Given the description of an element on the screen output the (x, y) to click on. 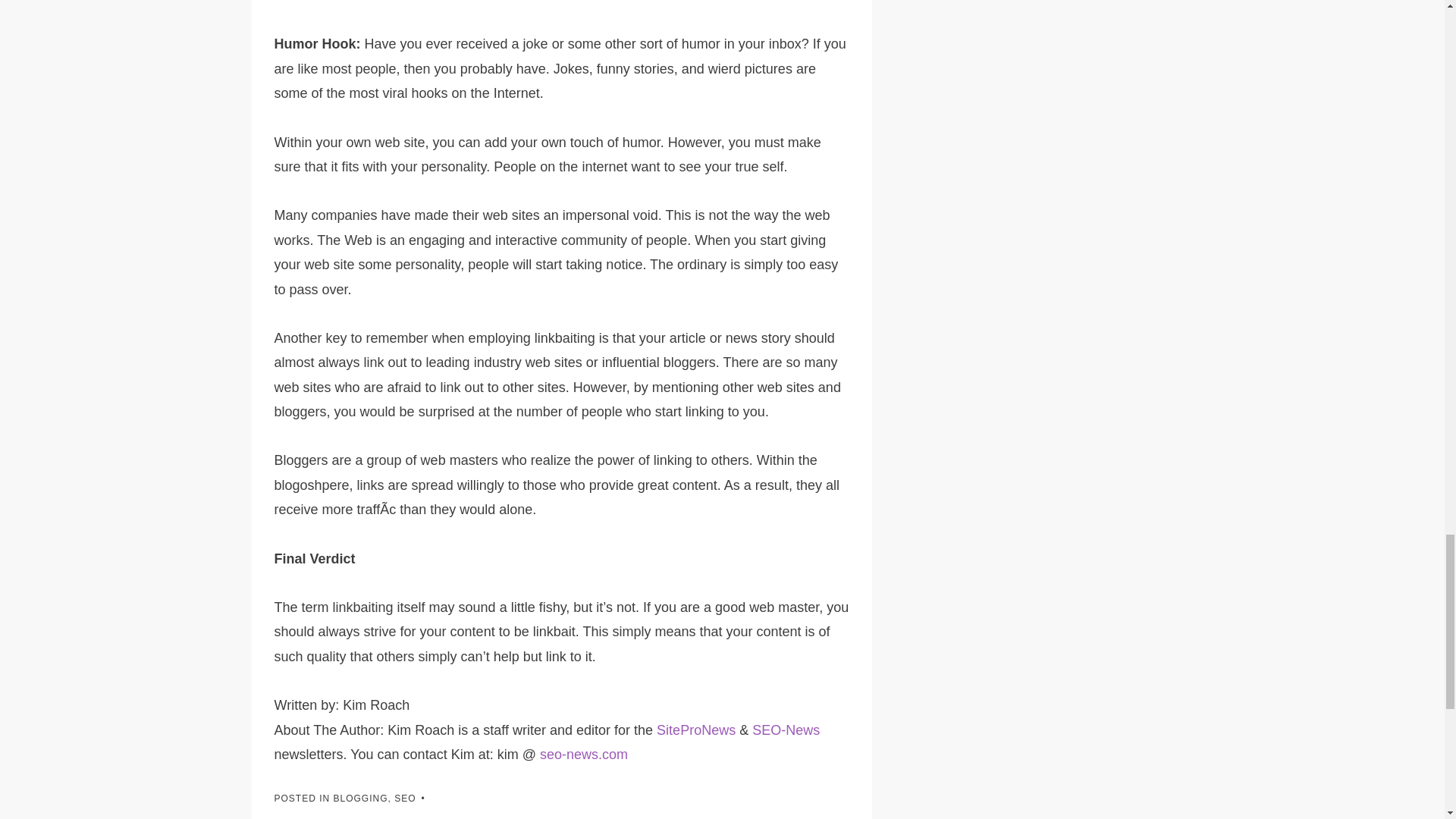
SEO (404, 798)
BLOGGING (360, 798)
SEO-News (785, 729)
seo-news.com (583, 754)
SiteProNews (695, 729)
